Given the description of an element on the screen output the (x, y) to click on. 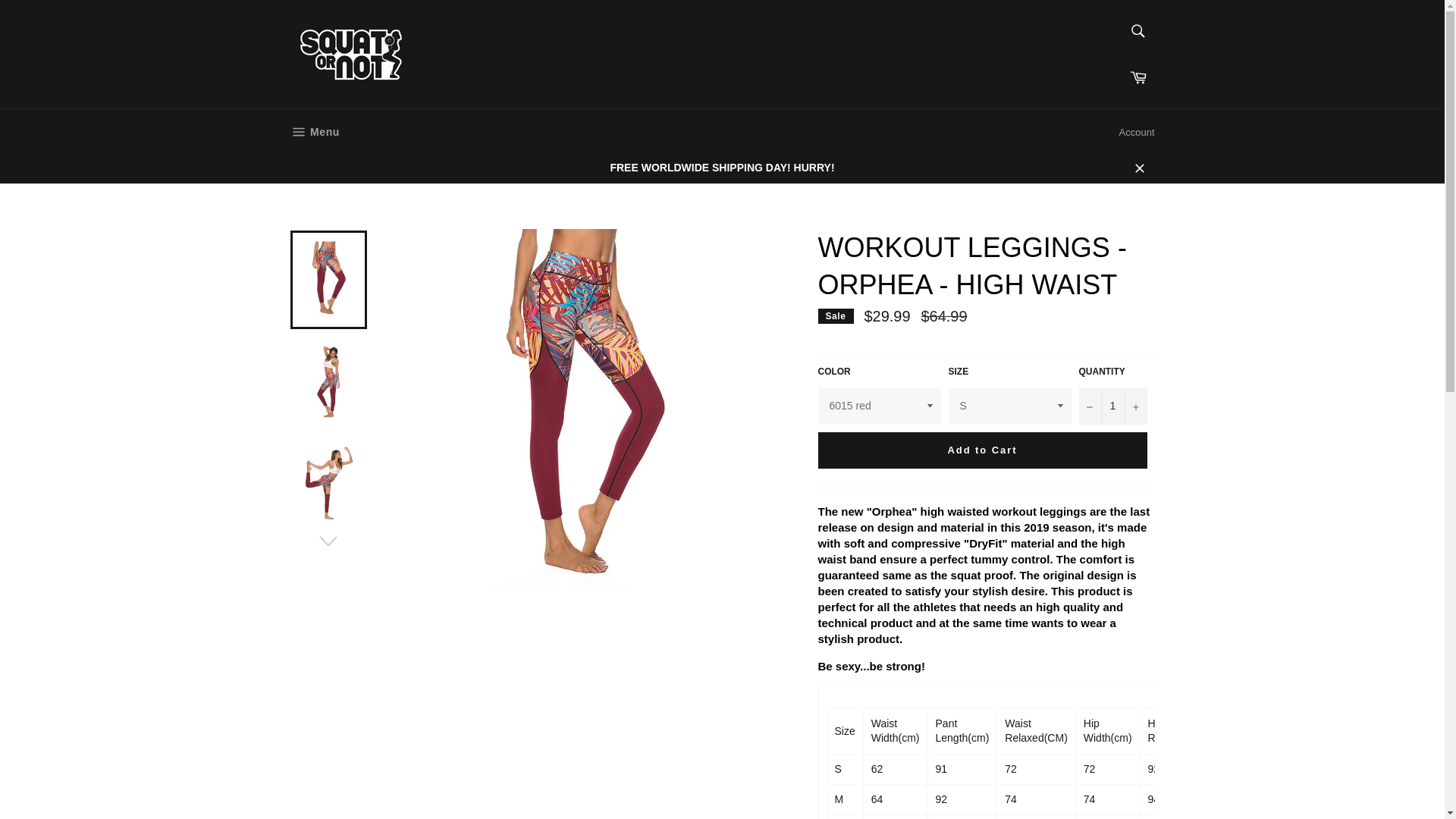
1 (1112, 406)
Close (1139, 167)
Account (314, 132)
Cart (1136, 132)
Search (1138, 77)
